Given the description of an element on the screen output the (x, y) to click on. 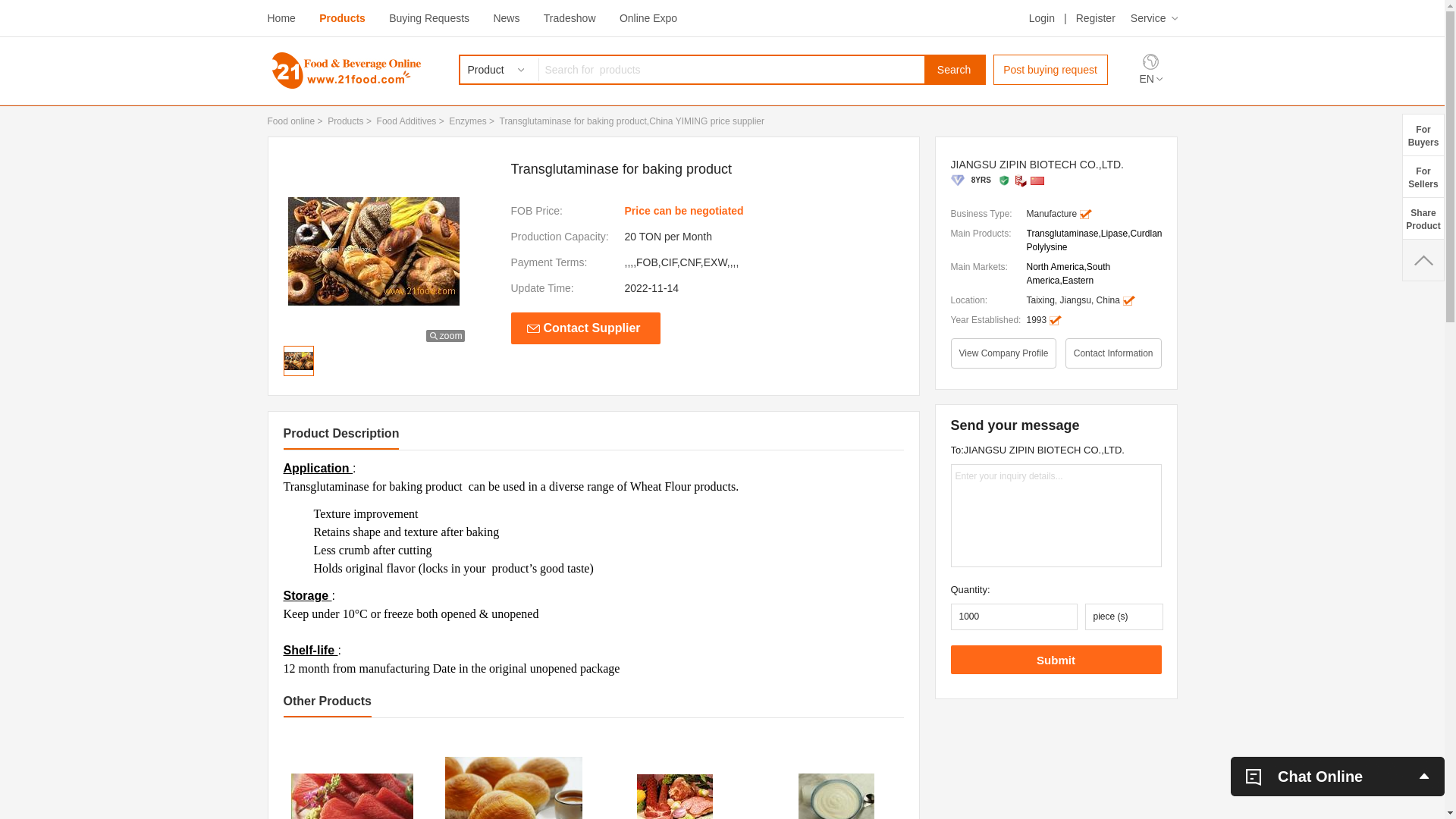
Contact Supplier Element type: text (585, 328)
Products Element type: text (345, 121)
For
Sellers Element type: text (1423, 176)
Login Element type: text (1041, 18)
News Element type: text (505, 18)
Register Element type: text (1095, 18)
EN Element type: text (1150, 78)
Contact Information Element type: text (1113, 353)
Products Element type: text (342, 18)
Share
Product Element type: text (1423, 217)
Manufacture Element type: hover (1020, 180)
Food Additives Element type: text (406, 121)
Submit Element type: text (1055, 659)
Online Expo Element type: text (648, 18)
  Element type: text (1423, 259)
Food online Element type: text (290, 121)
Home Element type: text (280, 18)
China Element type: hover (1037, 180)
Search Element type: text (953, 69)
View Company Profile Element type: text (1003, 353)
JIANGSU ZIPIN BIOTECH CO.,LTD. Element type: text (1055, 164)
For
Buyers Element type: text (1423, 134)
Post buying request Element type: text (1050, 69)
Buying Requests Element type: text (429, 18)
Service Element type: text (1153, 18)
Tradeshow Element type: text (569, 18)
Enzymes Element type: text (467, 121)
